Given the description of an element on the screen output the (x, y) to click on. 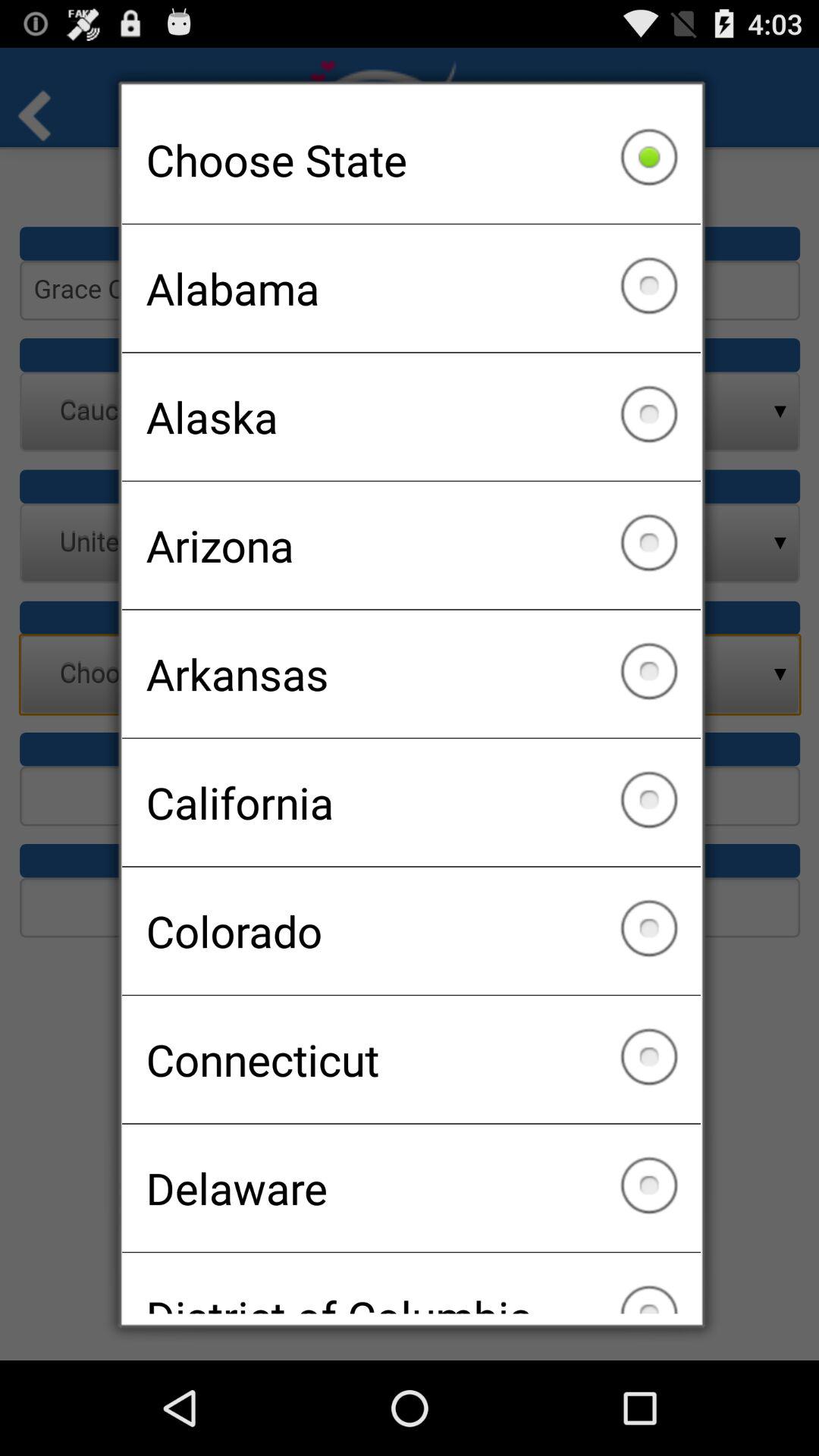
turn off choose state checkbox (411, 159)
